Given the description of an element on the screen output the (x, y) to click on. 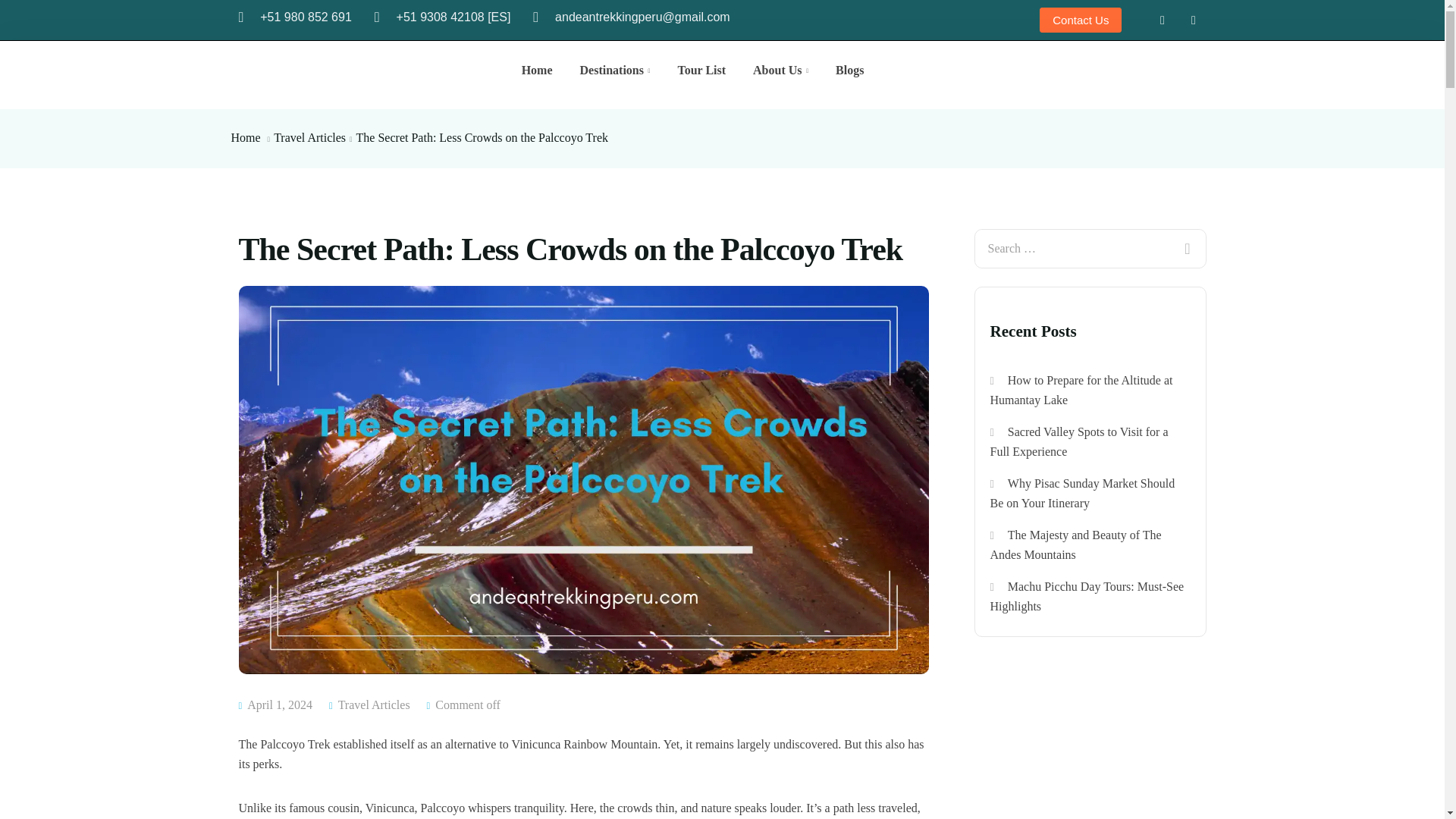
About Us (781, 70)
Destinations (614, 70)
Home (536, 70)
Home (245, 137)
Contact Us (1080, 19)
Search (1186, 239)
Search (1186, 239)
Tour List (701, 70)
